Given the description of an element on the screen output the (x, y) to click on. 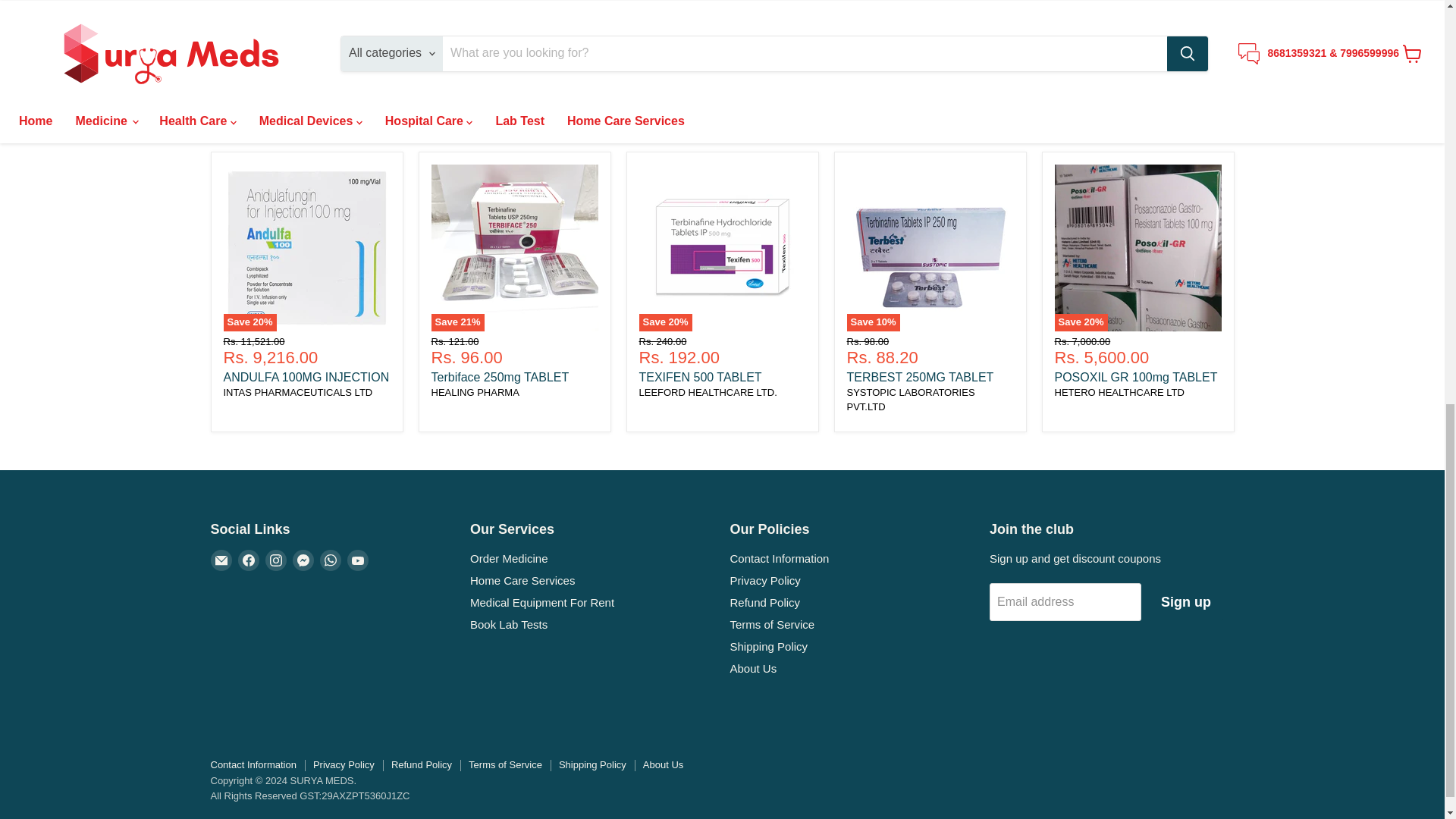
INTAS PHARMACEUTICALS LTD (297, 392)
